Given the description of an element on the screen output the (x, y) to click on. 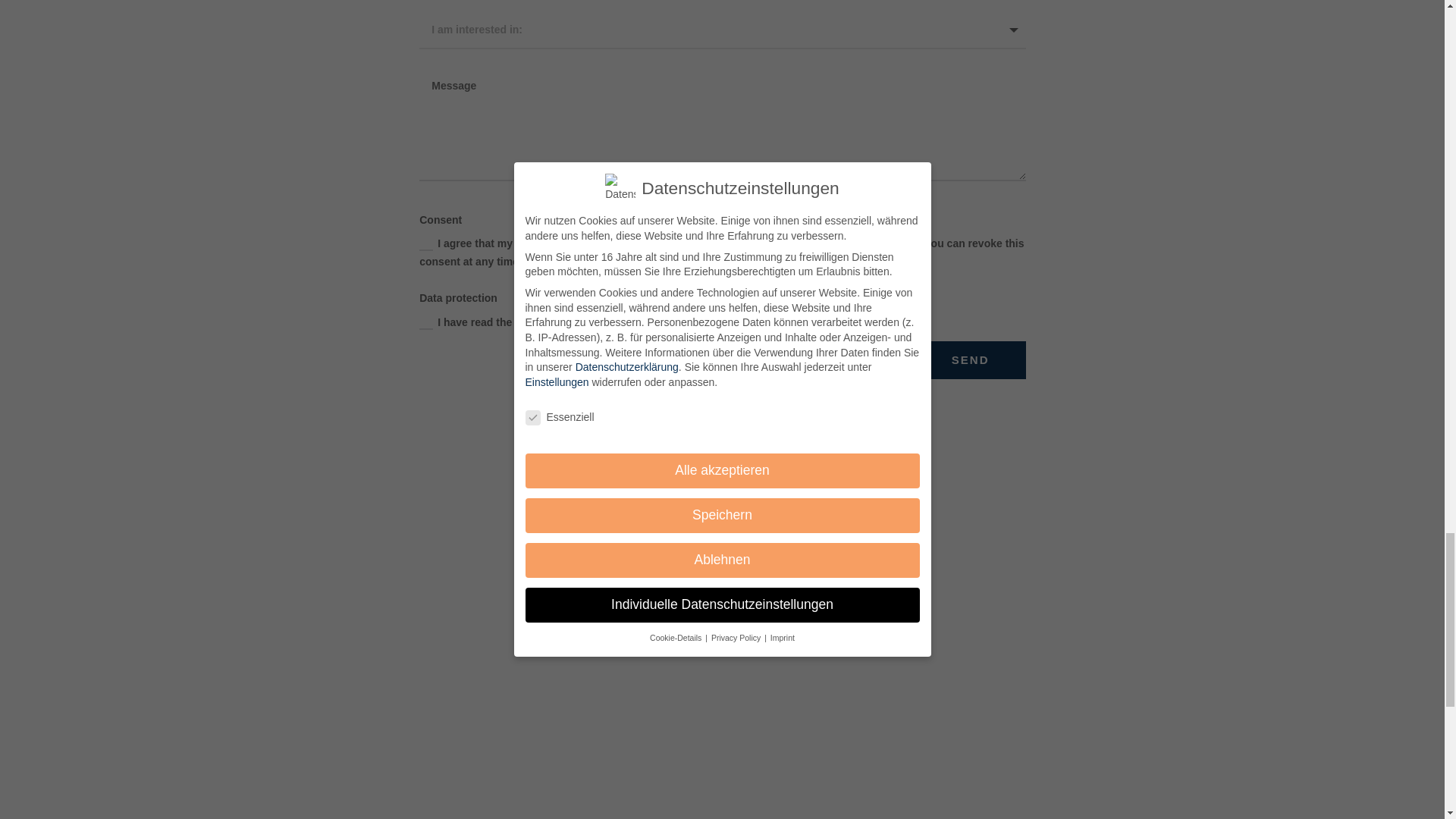
SEND (970, 360)
